Given the description of an element on the screen output the (x, y) to click on. 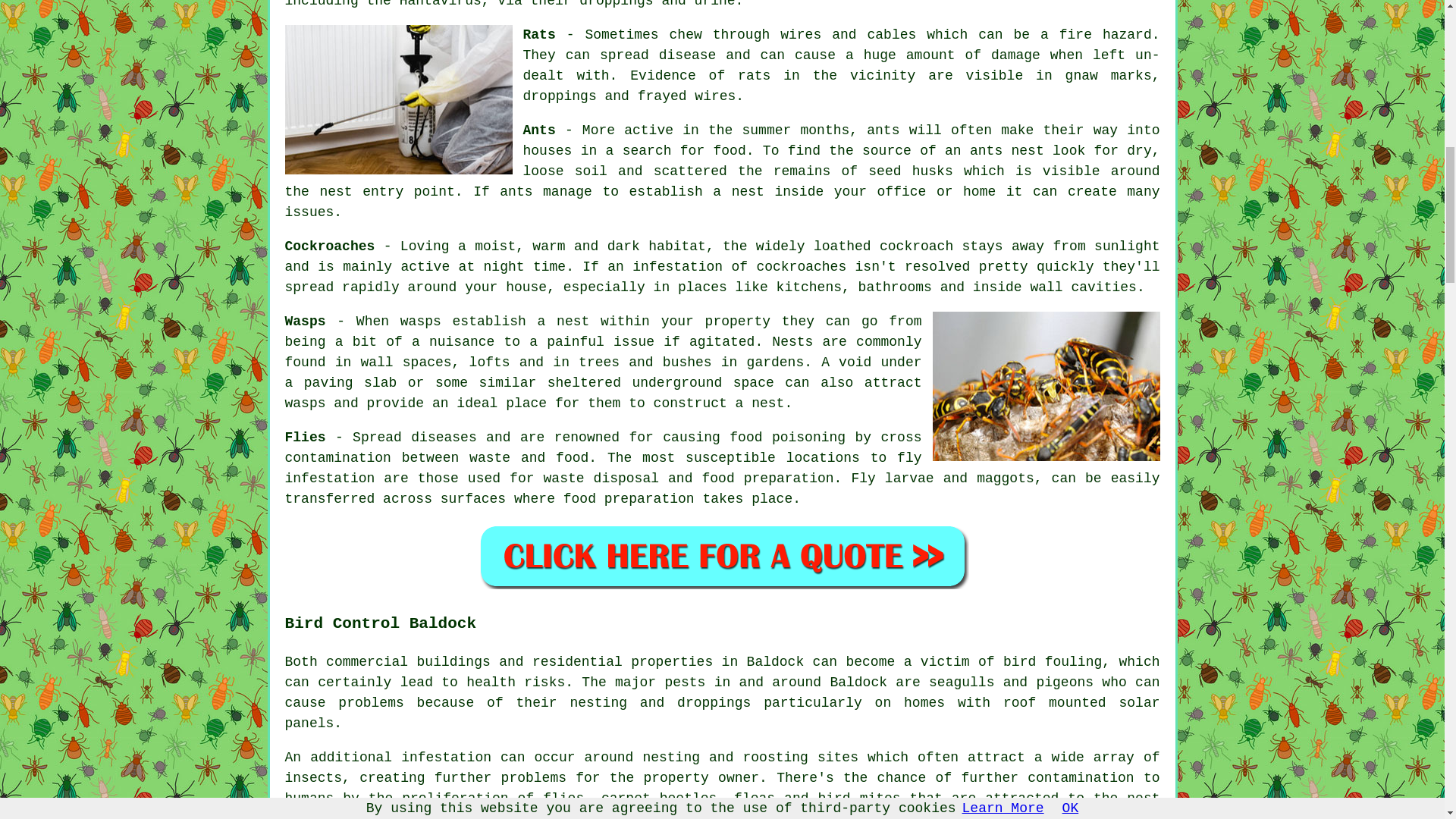
an ants nest (993, 150)
Wasp Control Baldock (1046, 386)
Pest Control Quotes in Baldock Hertfordshire (722, 555)
